Given the description of an element on the screen output the (x, y) to click on. 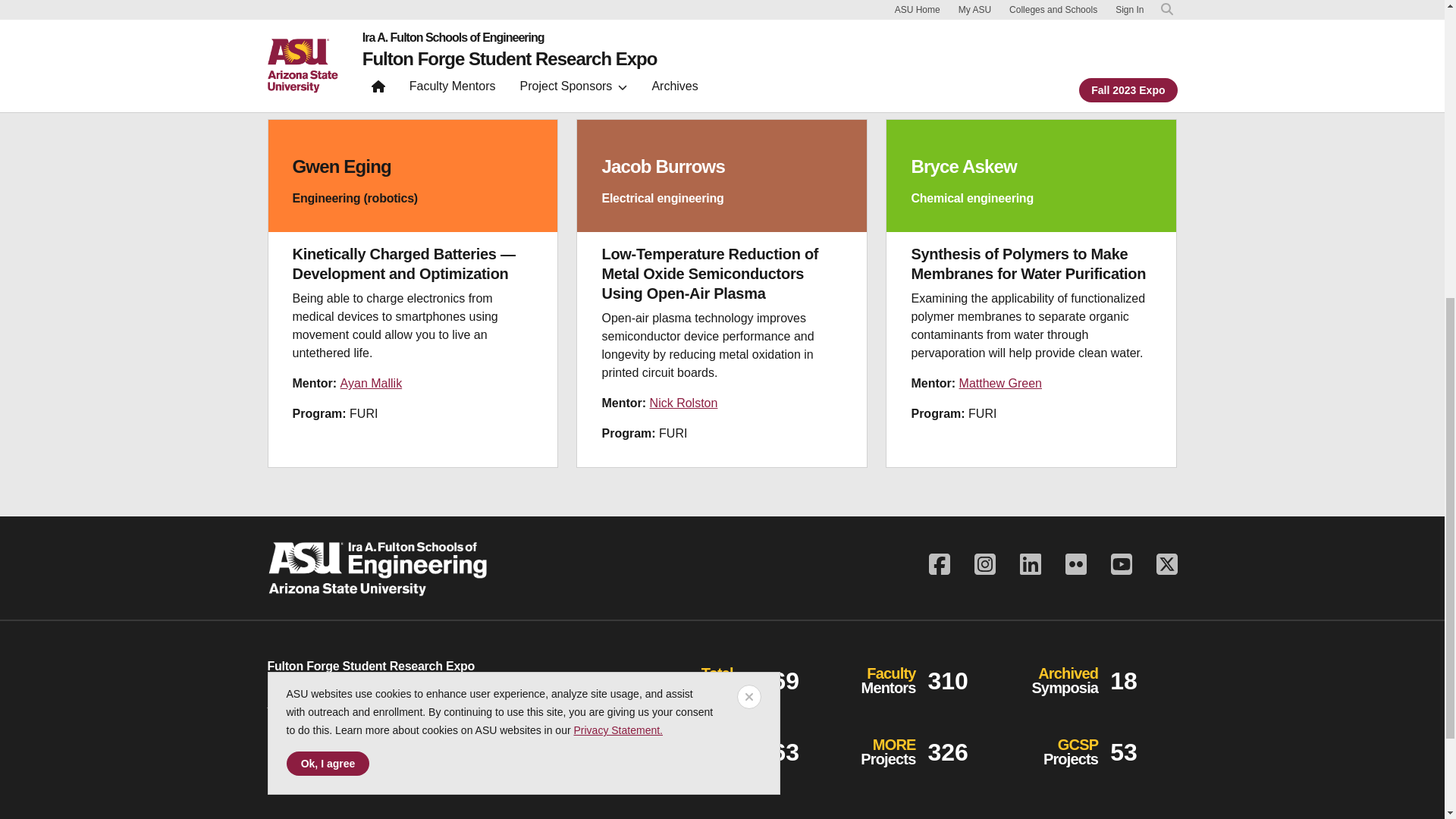
Contribute (322, 754)
Ayan Mallik (371, 382)
Contact Us (296, 702)
Nick Rolston (683, 402)
Matthew Green (1000, 382)
